Given the description of an element on the screen output the (x, y) to click on. 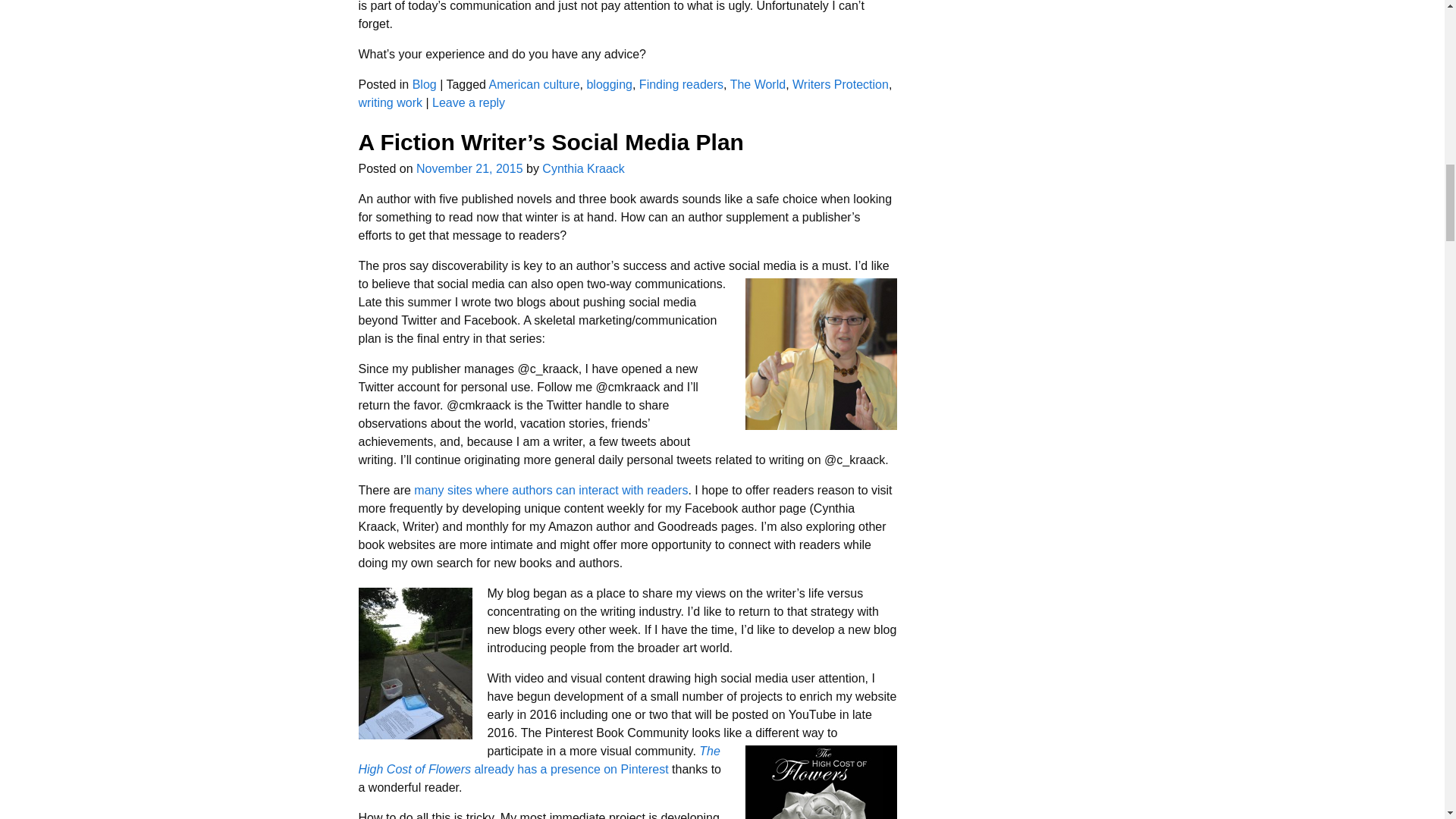
Blog (424, 83)
Finding readers (681, 83)
blogging (608, 83)
American culture (534, 83)
7:51 pm (469, 168)
View all posts by Cynthia Kraack (582, 168)
